Given the description of an element on the screen output the (x, y) to click on. 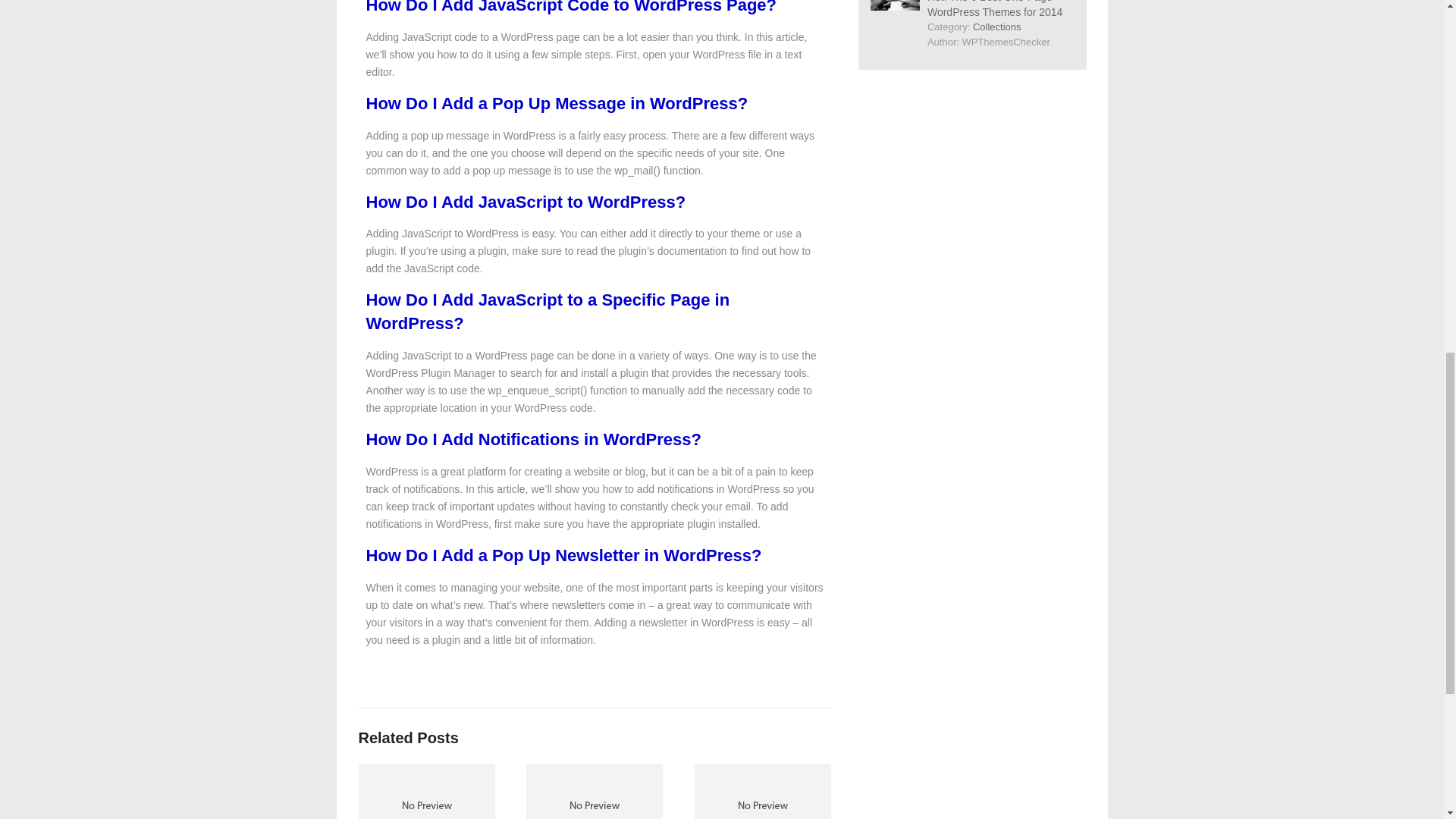
How Do I Add Notifications in WordPress? (532, 438)
Hot! The 6 Best One-Page WordPress Themes for 2014 (994, 9)
How Do I Add a Pop Up Newsletter in WordPress? (563, 555)
How Do I Add JavaScript Code to WordPress Page? (570, 7)
How Do I Add a Pop Up Message in WordPress? (556, 103)
How Do I Add JavaScript to a Specific Page in WordPress? (547, 311)
How Do I Add JavaScript to WordPress? (525, 201)
